Given the description of an element on the screen output the (x, y) to click on. 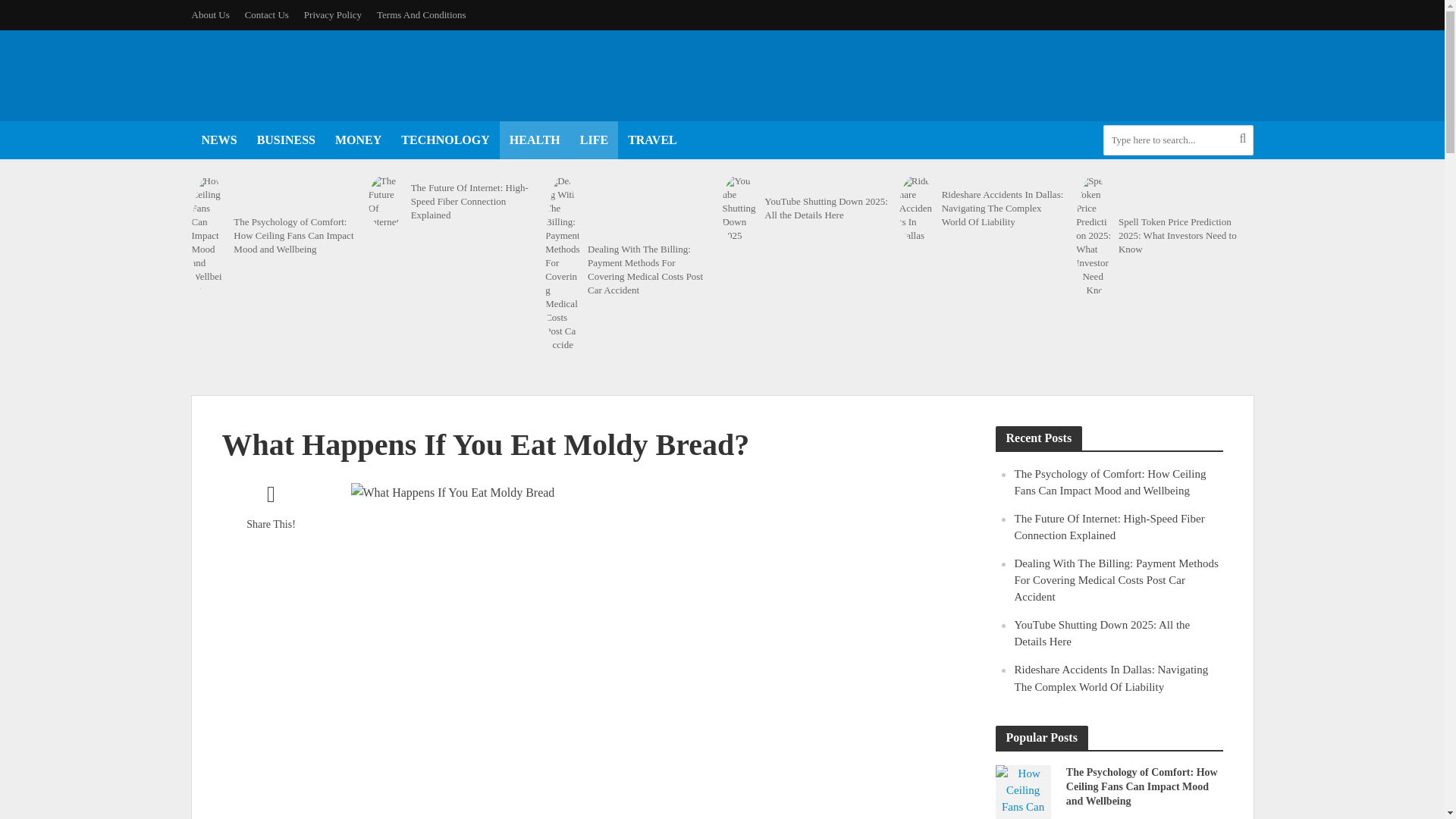
HEALTH (534, 139)
LIFE (593, 139)
Privacy Policy (333, 15)
Contact Us (267, 15)
TECHNOLOGY (445, 139)
MONEY (357, 139)
BUSINESS (285, 139)
About Us (212, 15)
Terms And Conditions (421, 15)
